Given the description of an element on the screen output the (x, y) to click on. 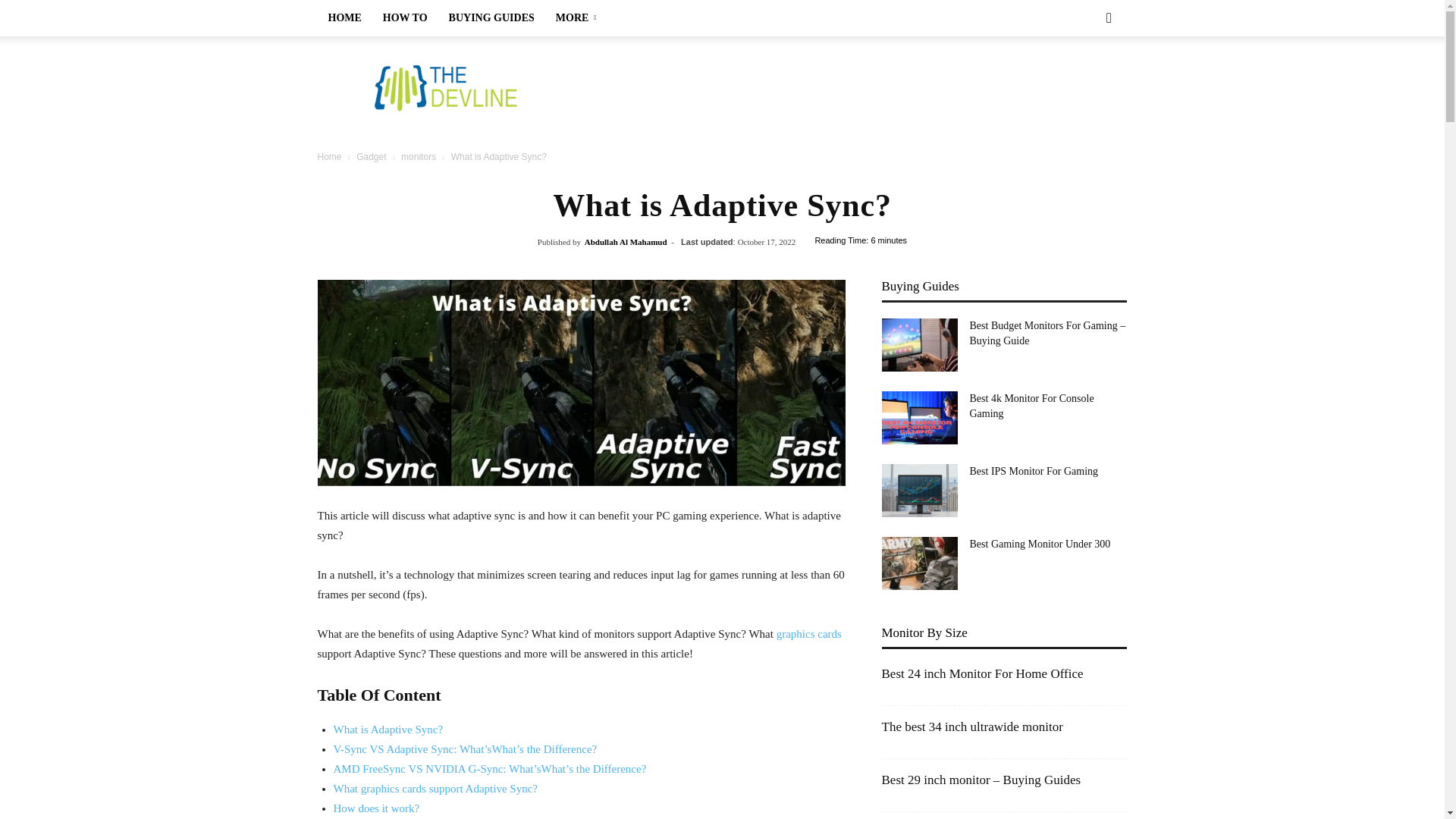
View all posts in Gadget (370, 156)
MORE (578, 18)
Abdullah Al Mahamud (625, 241)
graphics cards (808, 633)
BUYING GUIDES (491, 18)
Gadget (370, 156)
monitors (418, 156)
HOME (344, 18)
View all posts in monitors (418, 156)
What-is-Adaptive-Sync (580, 383)
